Given the description of an element on the screen output the (x, y) to click on. 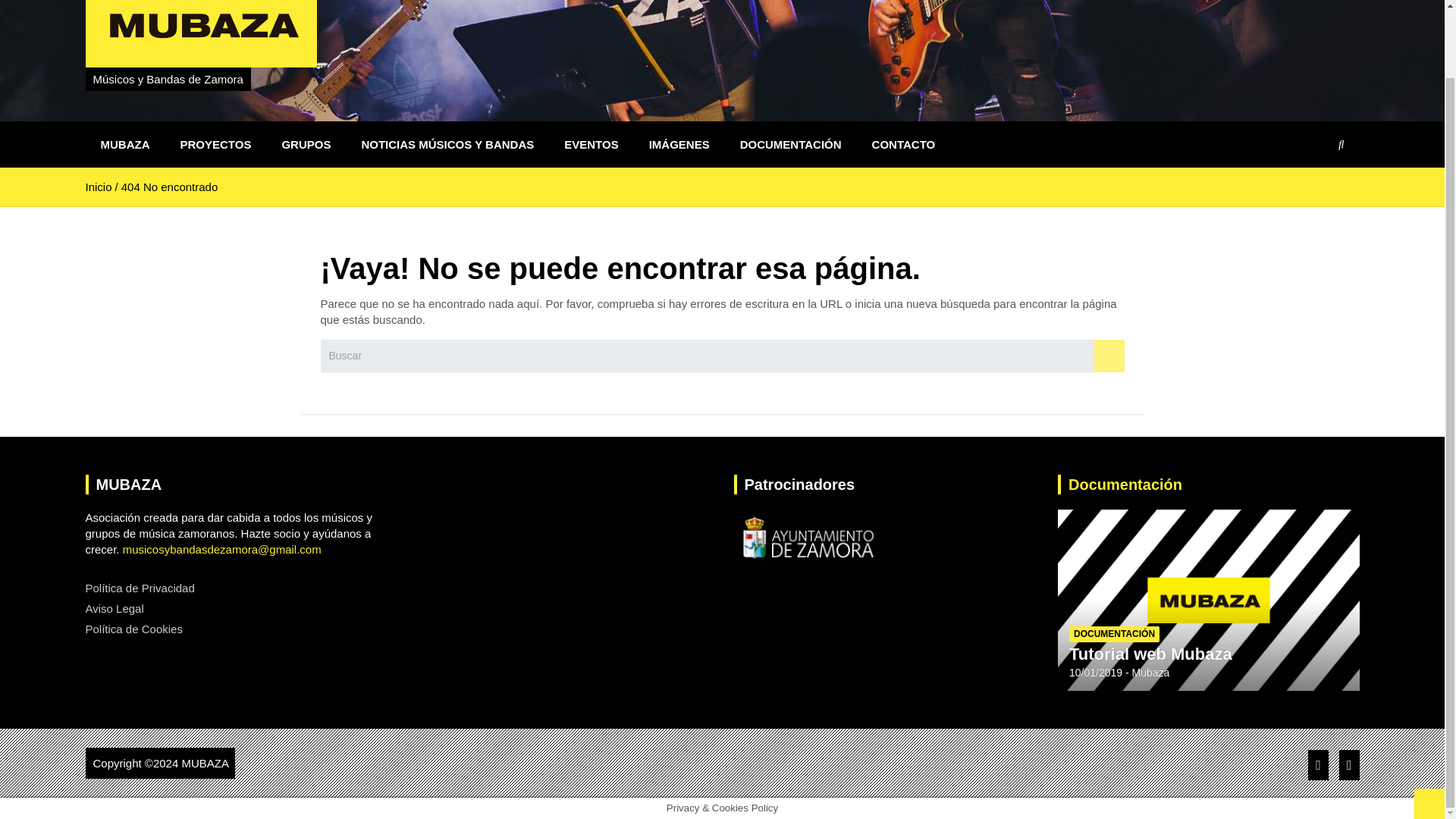
Inicio (98, 186)
Mubaza (1151, 672)
MUBAZA (204, 762)
GRUPOS (306, 144)
EVENTOS (590, 144)
Tutorial web Mubaza (1095, 672)
Buscar (1108, 355)
CONTACTO (903, 144)
Tutorial web Mubaza (1149, 653)
Aviso Legal (113, 608)
